Given the description of an element on the screen output the (x, y) to click on. 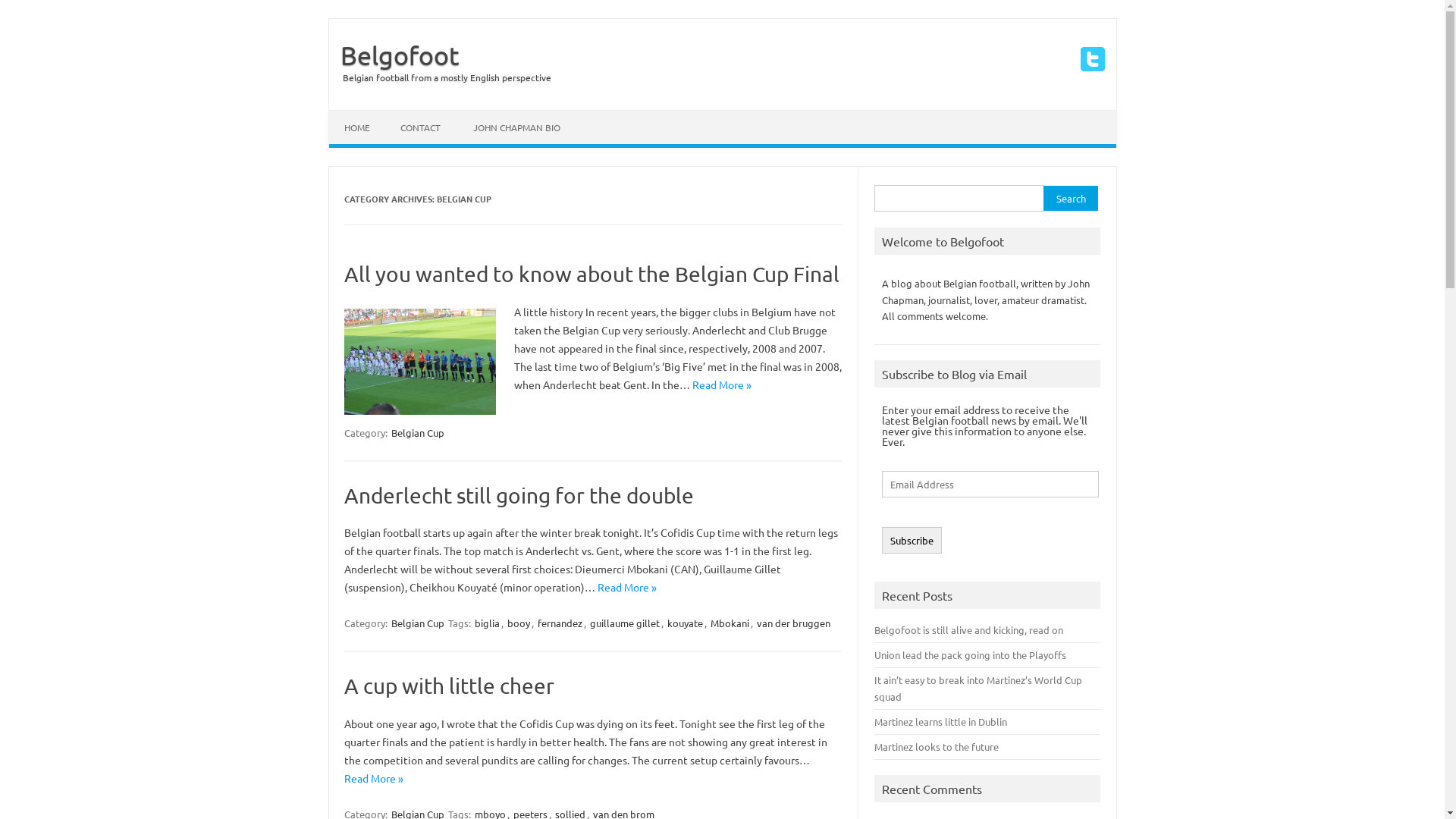
Belgian Cup Element type: text (417, 622)
booy Element type: text (518, 622)
van der bruggen Element type: text (793, 622)
Search Element type: text (1070, 197)
guillaume gillet Element type: text (624, 622)
Belgian Cup Element type: text (417, 432)
Martinez looks to the future Element type: text (936, 746)
Mbokani Element type: text (729, 622)
Subscribe Element type: text (911, 540)
Martinez learns little in Dublin Element type: text (940, 721)
Belgian football from a mostly English perspective Element type: text (440, 77)
Skip to content Element type: text (365, 114)
Belgofoot Element type: text (394, 55)
biglia Element type: text (487, 622)
kouyate Element type: text (684, 622)
All you wanted to know about the Belgian Cup Final Element type: text (591, 273)
CONTACT Element type: text (420, 127)
HOME Element type: text (357, 127)
Belgofoot is still alive and kicking, read on Element type: text (968, 629)
fernandez Element type: text (559, 622)
Anderlecht still going for the double Element type: text (518, 495)
Union lead the pack going into the Playoffs Element type: text (970, 654)
A cup with little cheer Element type: text (449, 685)
JOHN CHAPMAN BIO Element type: text (516, 127)
